Given the description of an element on the screen output the (x, y) to click on. 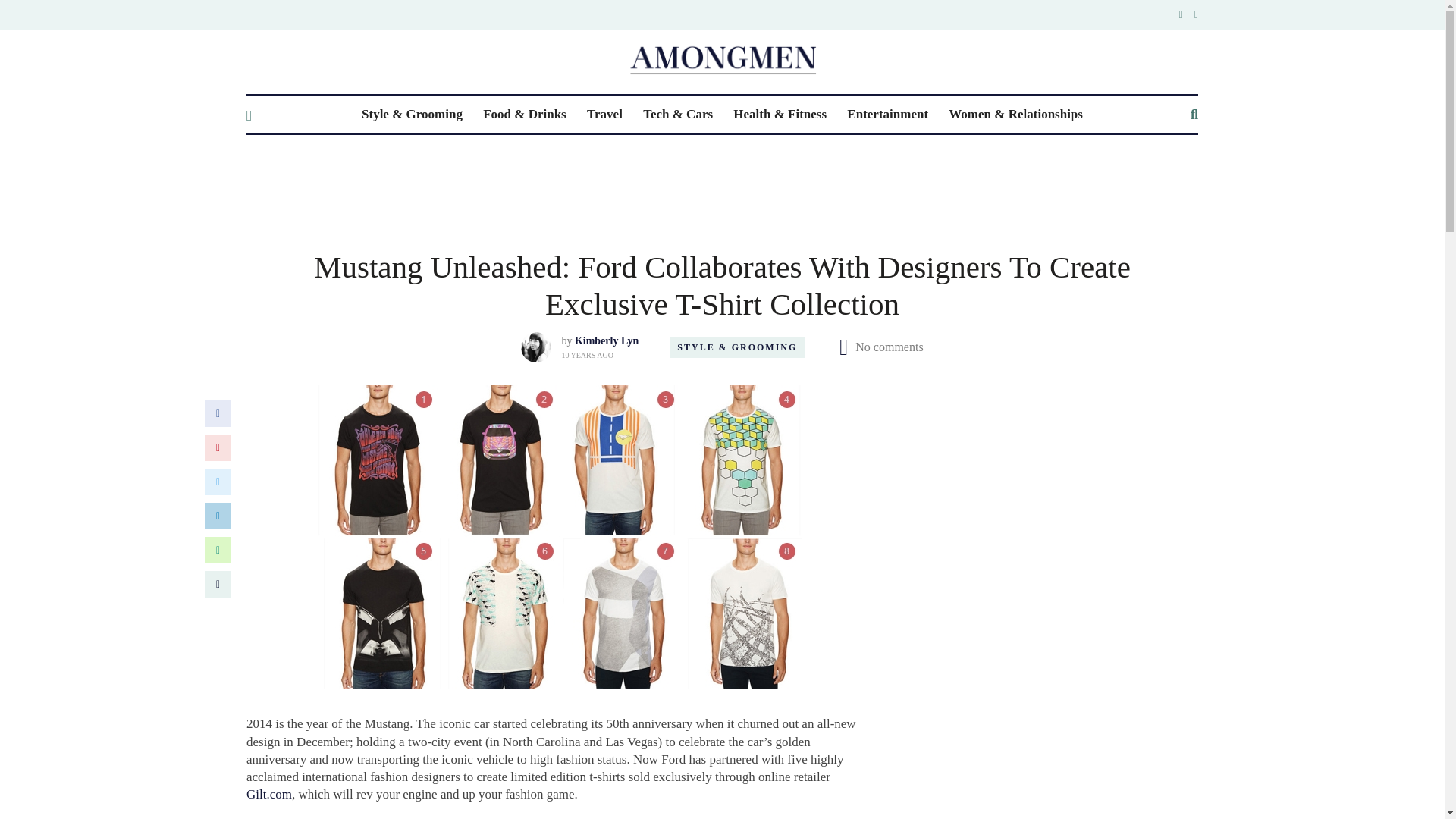
Gilt.com (269, 794)
Entertainment (887, 114)
Travel (604, 114)
Kimberly Lyn (607, 340)
AmongMen (721, 59)
No comments (889, 346)
